Given the description of an element on the screen output the (x, y) to click on. 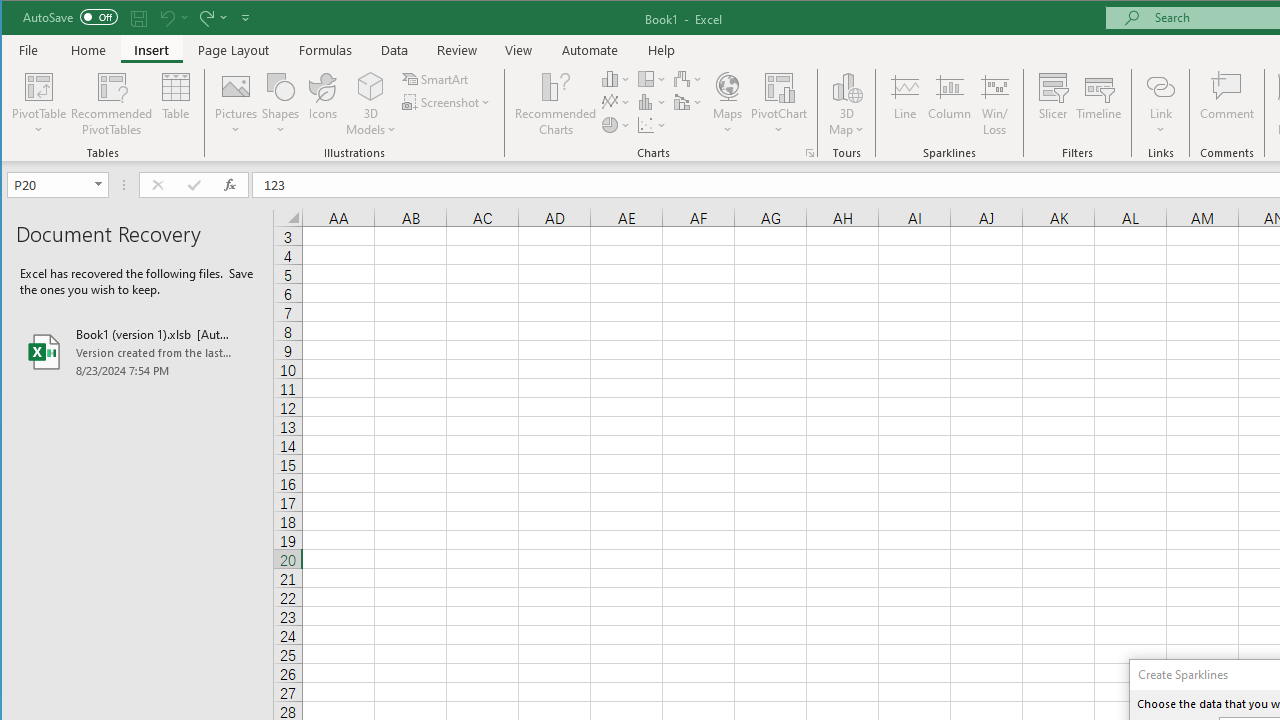
Insert Waterfall, Funnel, Stock, Surface, or Radar Chart (688, 78)
Line (904, 104)
3D Map (846, 104)
Insert Hierarchy Chart (652, 78)
Insert Line or Area Chart (616, 101)
PivotTable (39, 86)
Icons (323, 104)
